Given the description of an element on the screen output the (x, y) to click on. 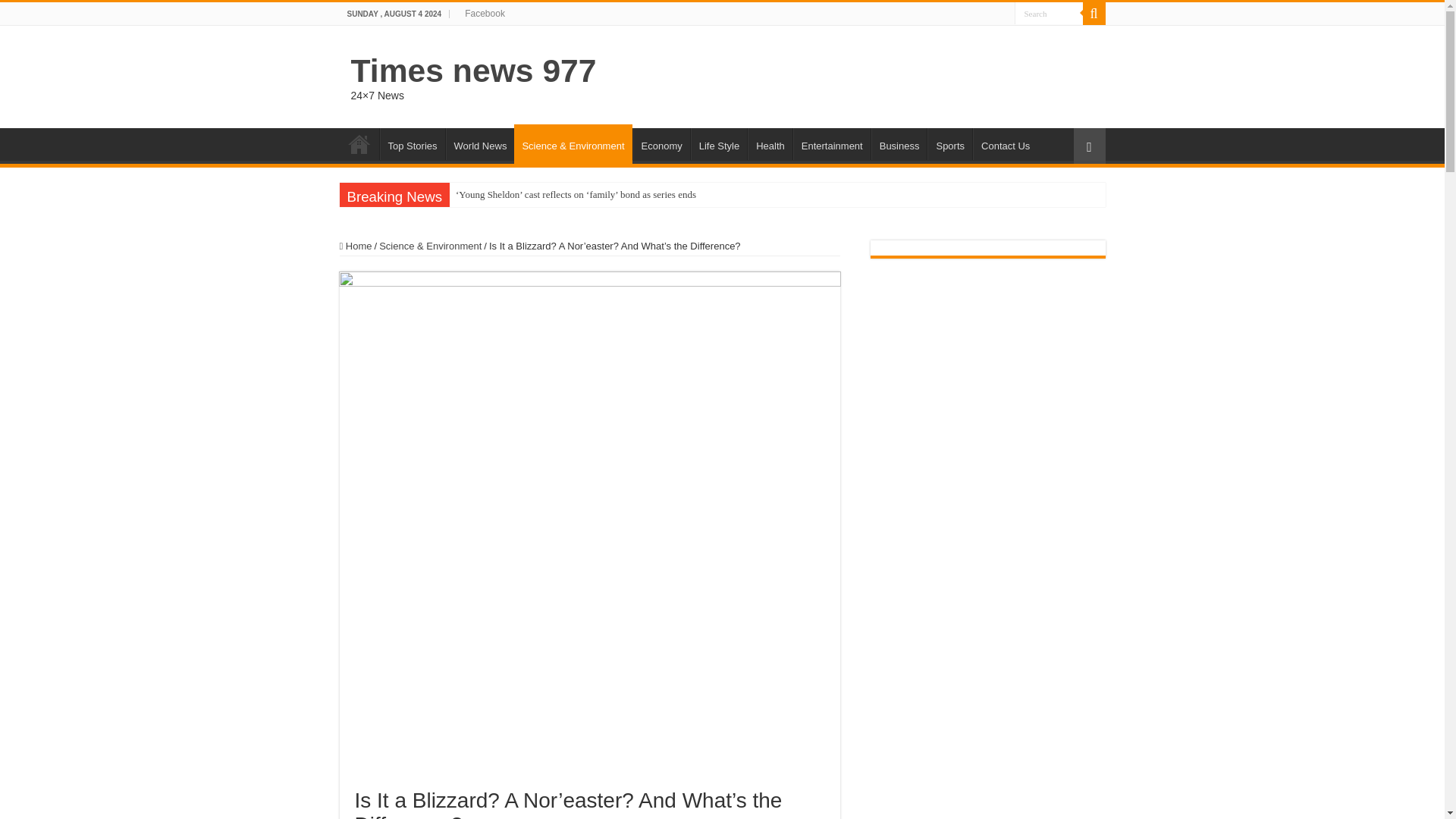
Business (898, 143)
Search (1048, 13)
Health (770, 143)
Life Style (718, 143)
Search (1094, 13)
Entertainment (831, 143)
Economy (661, 143)
Sports (949, 143)
Search (1048, 13)
Home (358, 143)
Times news 977 (472, 70)
World News (480, 143)
Facebook (484, 13)
Contact Us (1004, 143)
Top Stories (411, 143)
